Given the description of an element on the screen output the (x, y) to click on. 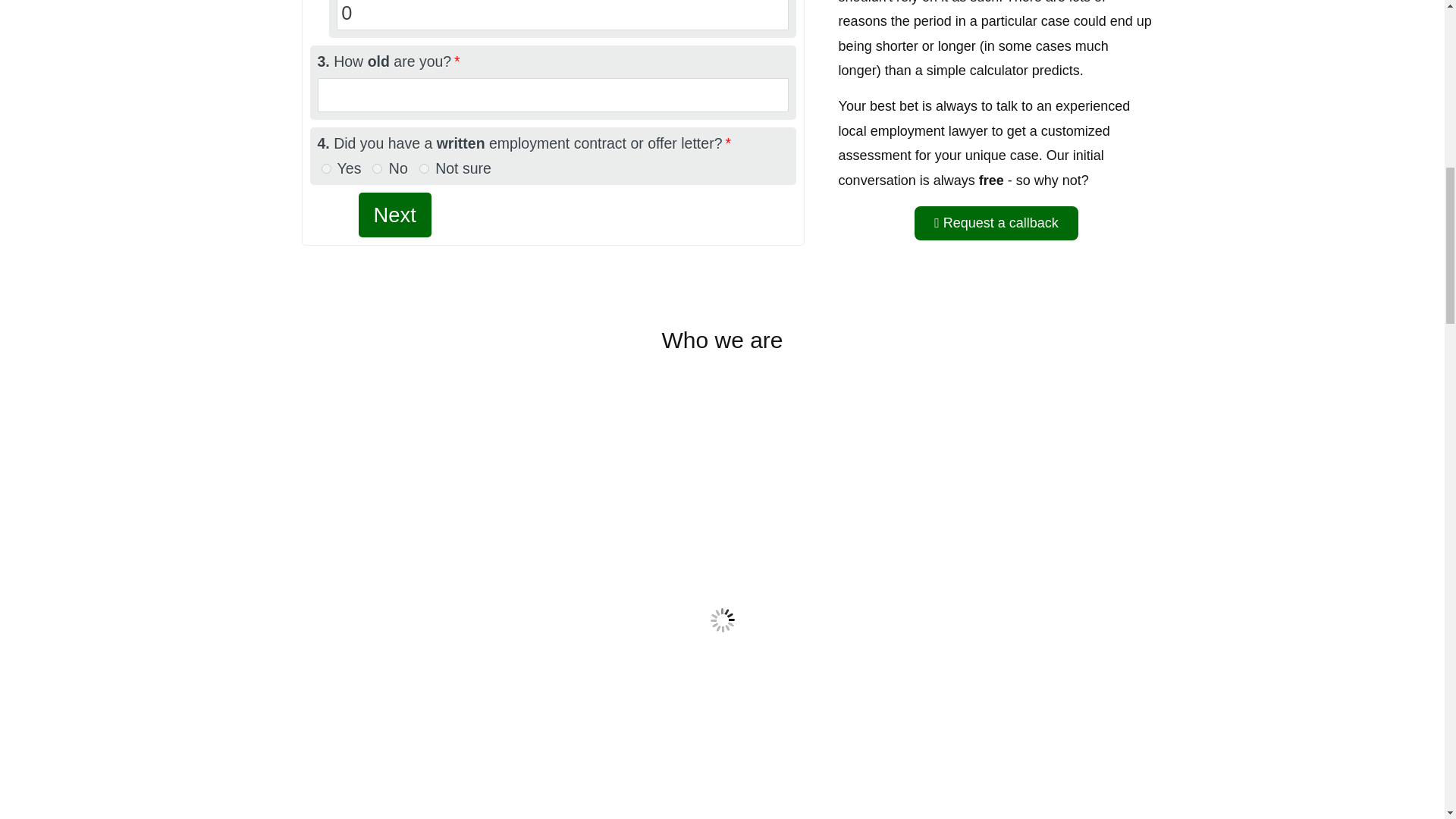
0 (376, 168)
1 (424, 168)
1 (326, 168)
0 (561, 15)
